Given the description of an element on the screen output the (x, y) to click on. 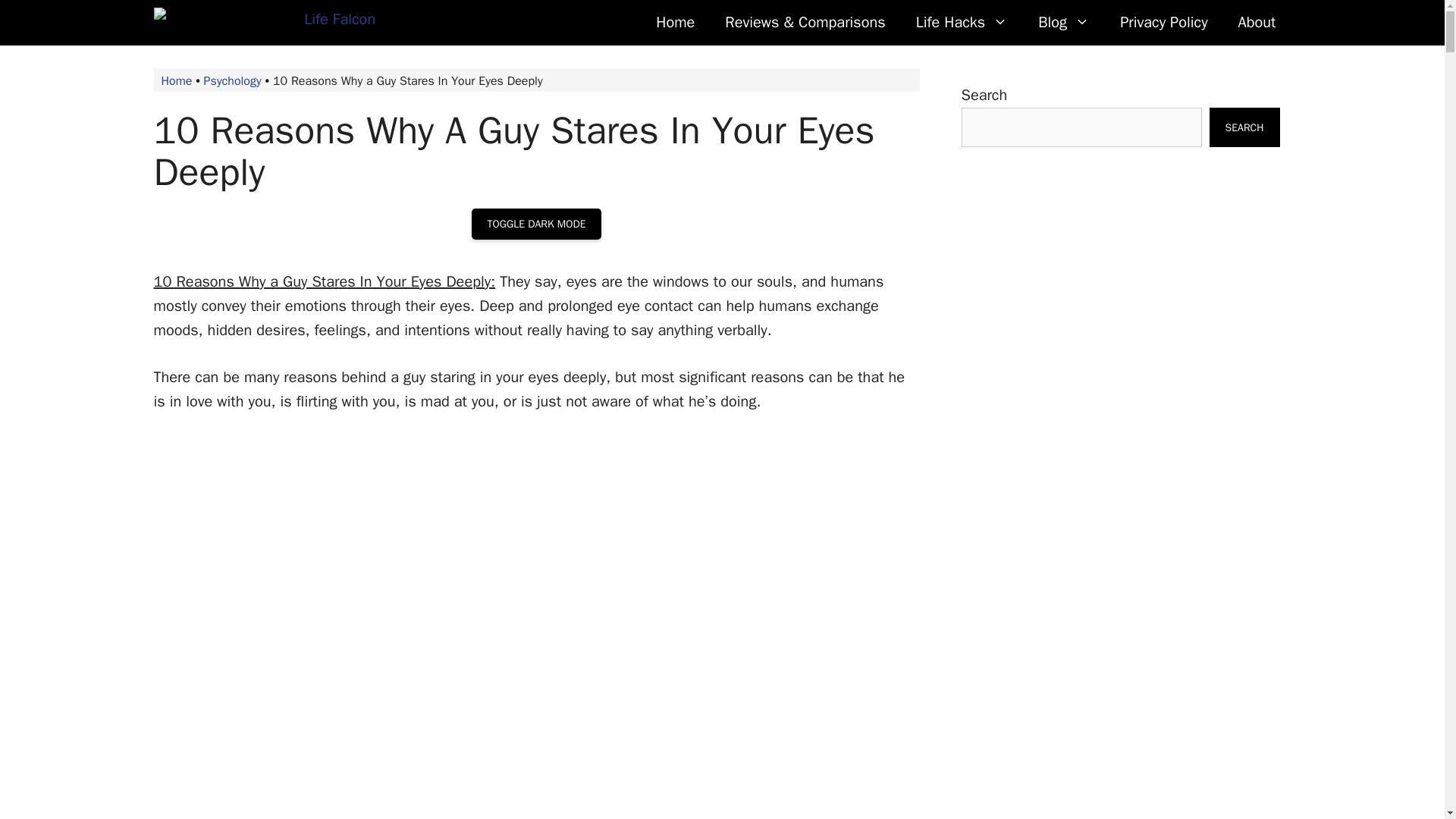
Life Falcon (263, 22)
Life Falcon (267, 22)
About (1257, 22)
Psychology (232, 80)
Privacy Policy (1164, 22)
Life Hacks (962, 22)
Home (176, 80)
Home (675, 22)
TOGGLE DARK MODE (535, 223)
Blog (1064, 22)
